Given the description of an element on the screen output the (x, y) to click on. 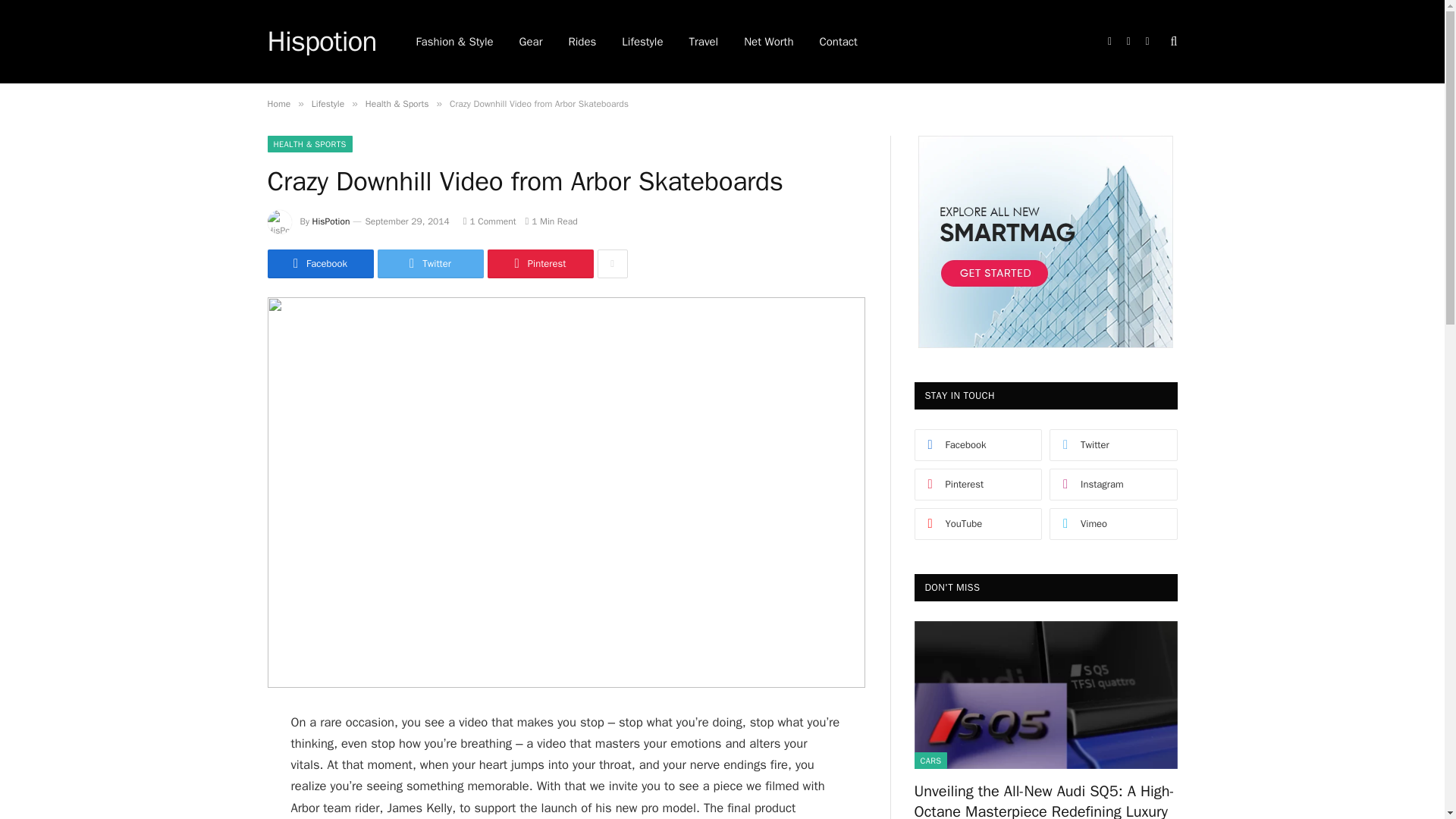
Twitter (430, 263)
Posts by HisPotion (331, 221)
Lifestyle (327, 103)
Pinterest (539, 263)
Net Worth (768, 41)
1 Comment (489, 221)
Home (277, 103)
Hispotion (320, 41)
Share on Pinterest (539, 263)
Hispotion (320, 41)
